Given the description of an element on the screen output the (x, y) to click on. 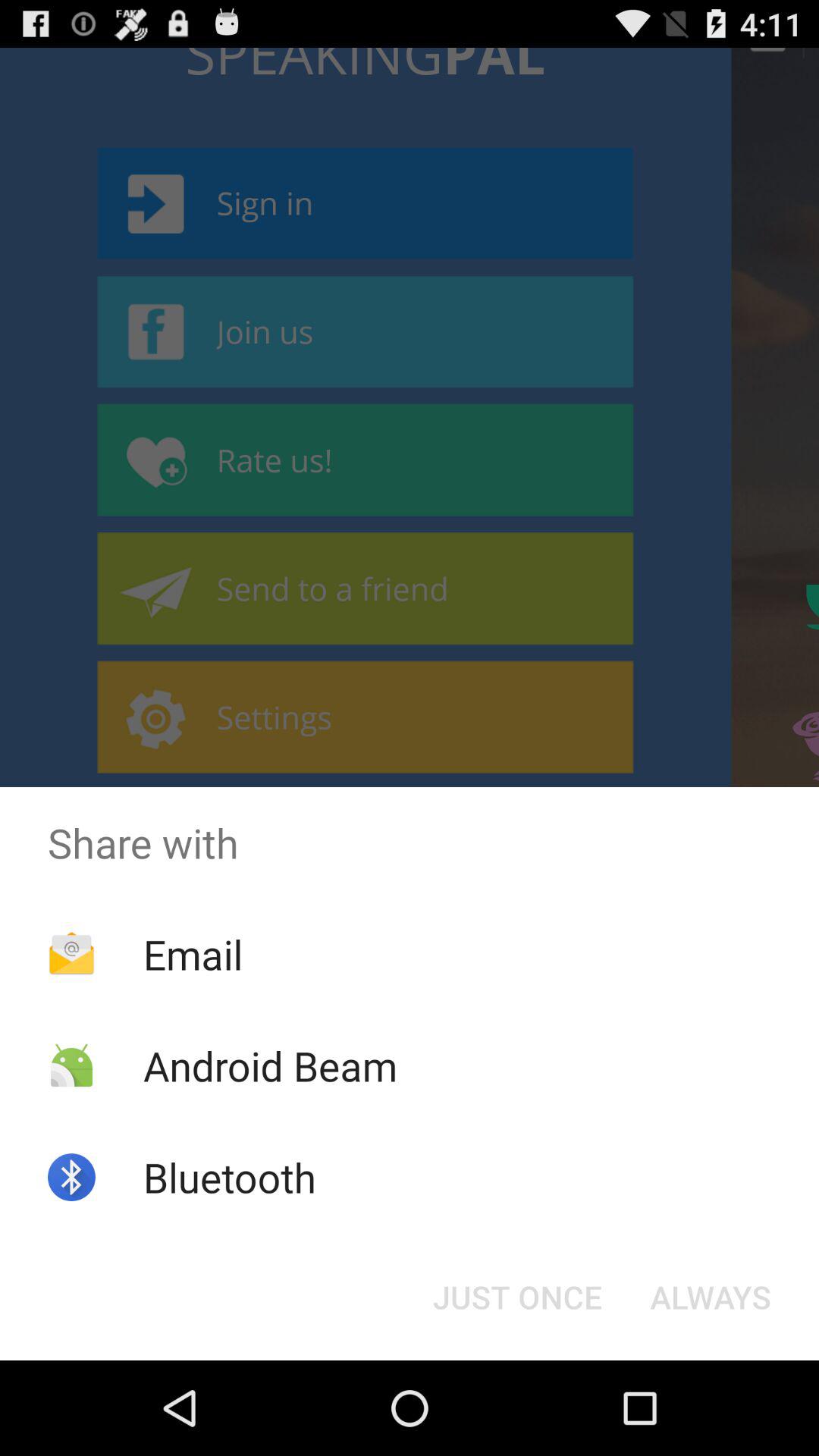
jump to always (710, 1296)
